Given the description of an element on the screen output the (x, y) to click on. 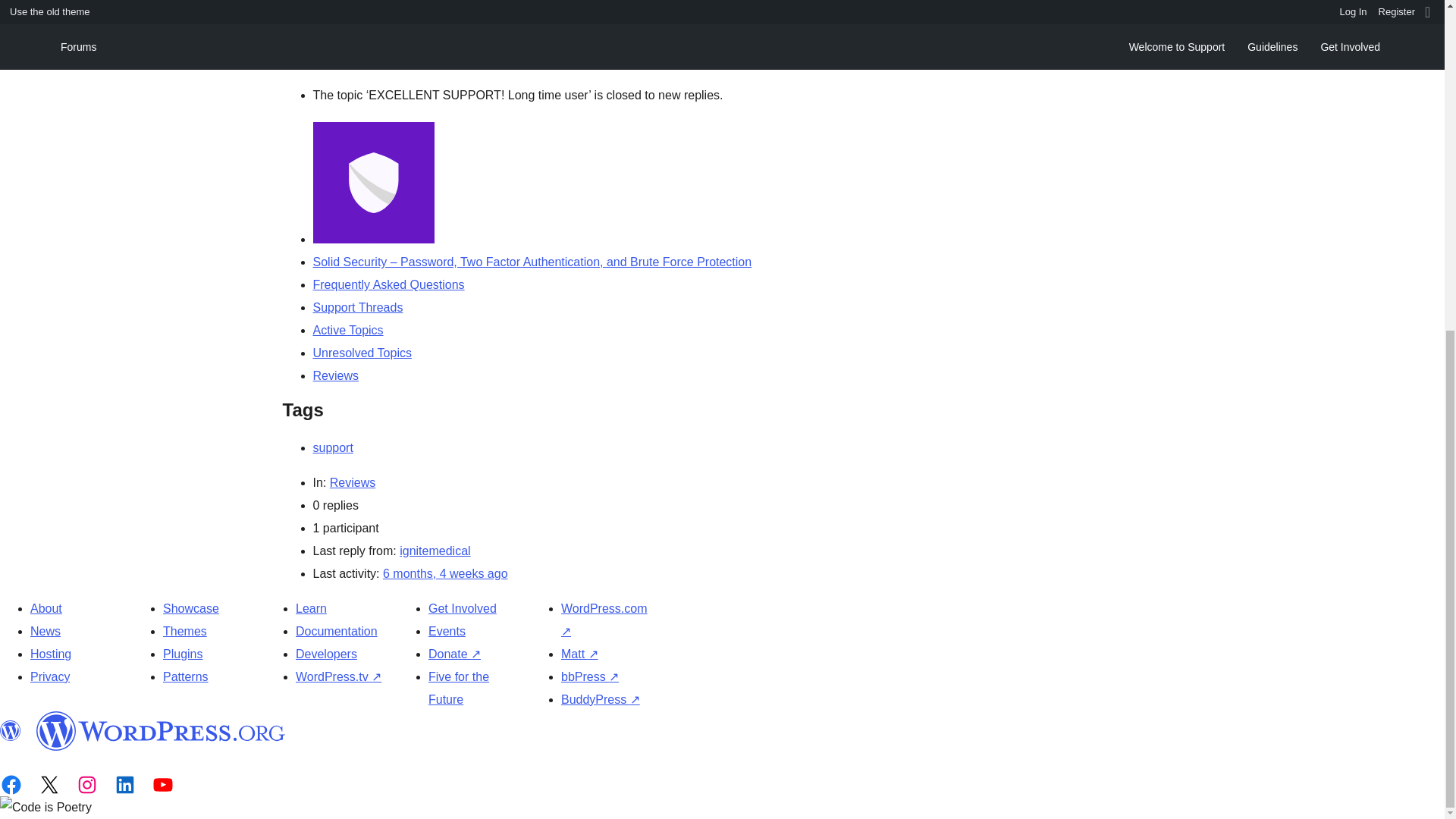
WordPress.org (160, 731)
January 5, 2024 at 3:37 pm (445, 573)
WordPress.org (10, 731)
View ignitemedical's profile (434, 550)
